Given the description of an element on the screen output the (x, y) to click on. 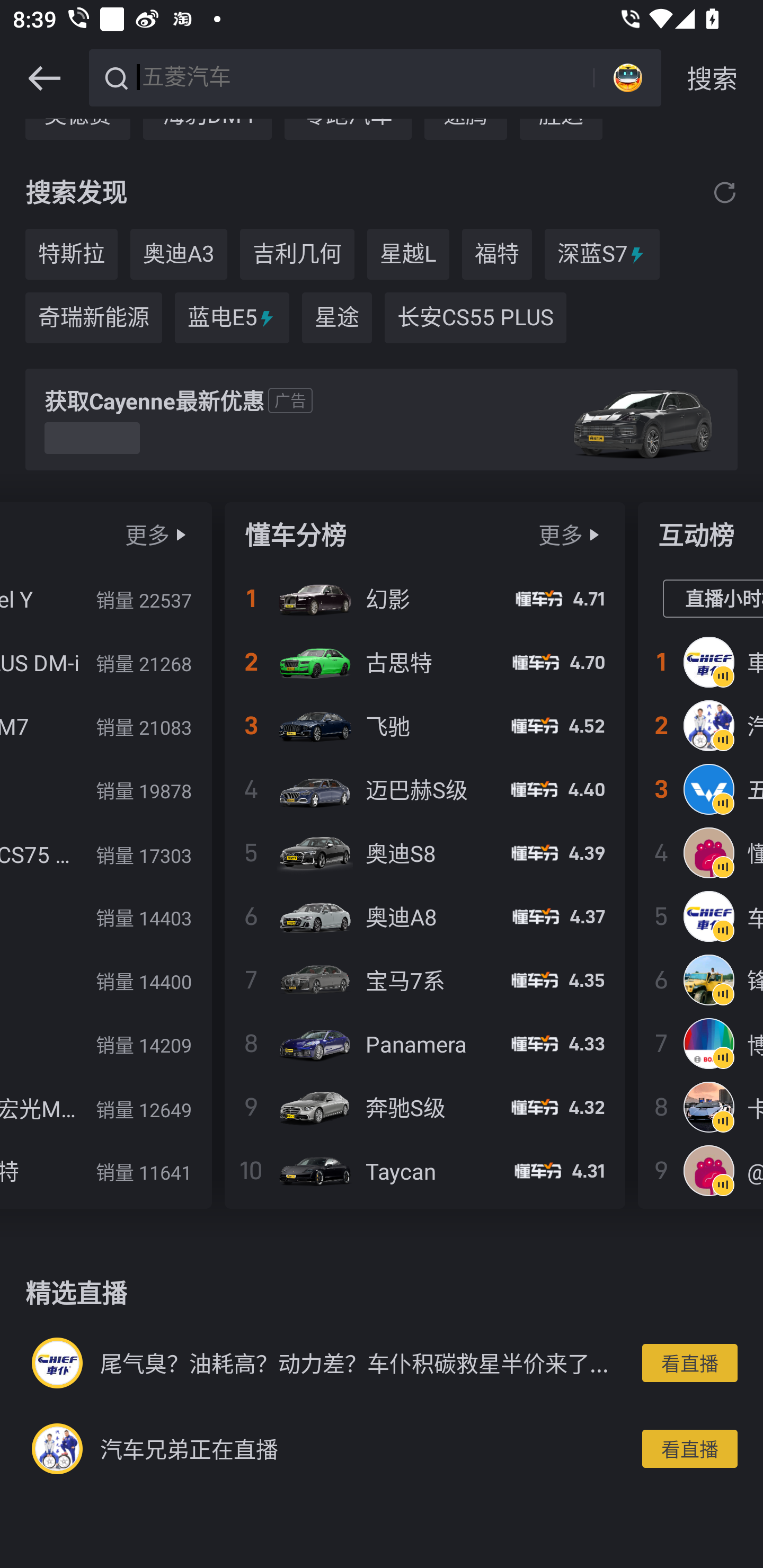
 五菱汽车 (364, 76)
 (44, 78)
搜索 (711, 78)
 (724, 192)
特斯拉 (71, 253)
奥迪A3 (178, 253)
吉利几何 (297, 253)
星越L (408, 253)
福特 (496, 253)
深蓝S7 (601, 253)
奇瑞新能源 (93, 317)
蓝电E5 (231, 317)
星途 (337, 317)
长安CS55 PLUS (475, 317)
获取Cayenne最新优惠 广告 立享优惠 (381, 419)
更多 (147, 534)
更多 (560, 534)
 (180, 534)
 (593, 534)
Model Y 销量 22537 (105, 598)
幻影 4.71 (424, 598)
直播小时榜 (713, 598)
秦PLUS DM-i 销量 21268 (105, 662)
古思特 4.70 (424, 662)
車仆 (701, 662)
问界M7 销量 21083 (105, 725)
飞驰 4.52 (424, 725)
汽车兄弟直播间 (701, 725)
轩逸 销量 19878 (105, 789)
迈巴赫S级 4.40 (424, 789)
五菱汽车 (701, 789)
长安CS75 PLUS 销量 17303 (105, 852)
奥迪S8 4.39 (424, 852)
懂车帝在线选车 (701, 852)
海鸥 销量 14403 (105, 916)
奥迪A8 4.37 (424, 916)
车仆汽车美容旗舰店 (701, 916)
朗逸 销量 14400 (105, 979)
宝马7系 4.35 (424, 979)
锋哥說车 (701, 979)
速腾 销量 14209 (105, 1043)
Panamera 4.33 (424, 1043)
博世汽车配件旗舰店 (701, 1043)
五菱宏光MINIEV 销量 12649 (105, 1106)
奔驰S级 4.32 (424, 1106)
卡贝尔汽车用品旗舰店 (701, 1106)
帕萨特 销量 11641 (105, 1170)
Taycan 4.31 (424, 1170)
@@ (701, 1170)
尾气臭？油耗高？动力差？车仆积碳救星半价来了... 看直播 (381, 1363)
汽车兄弟正在直播 看直播 (381, 1448)
